Given the description of an element on the screen output the (x, y) to click on. 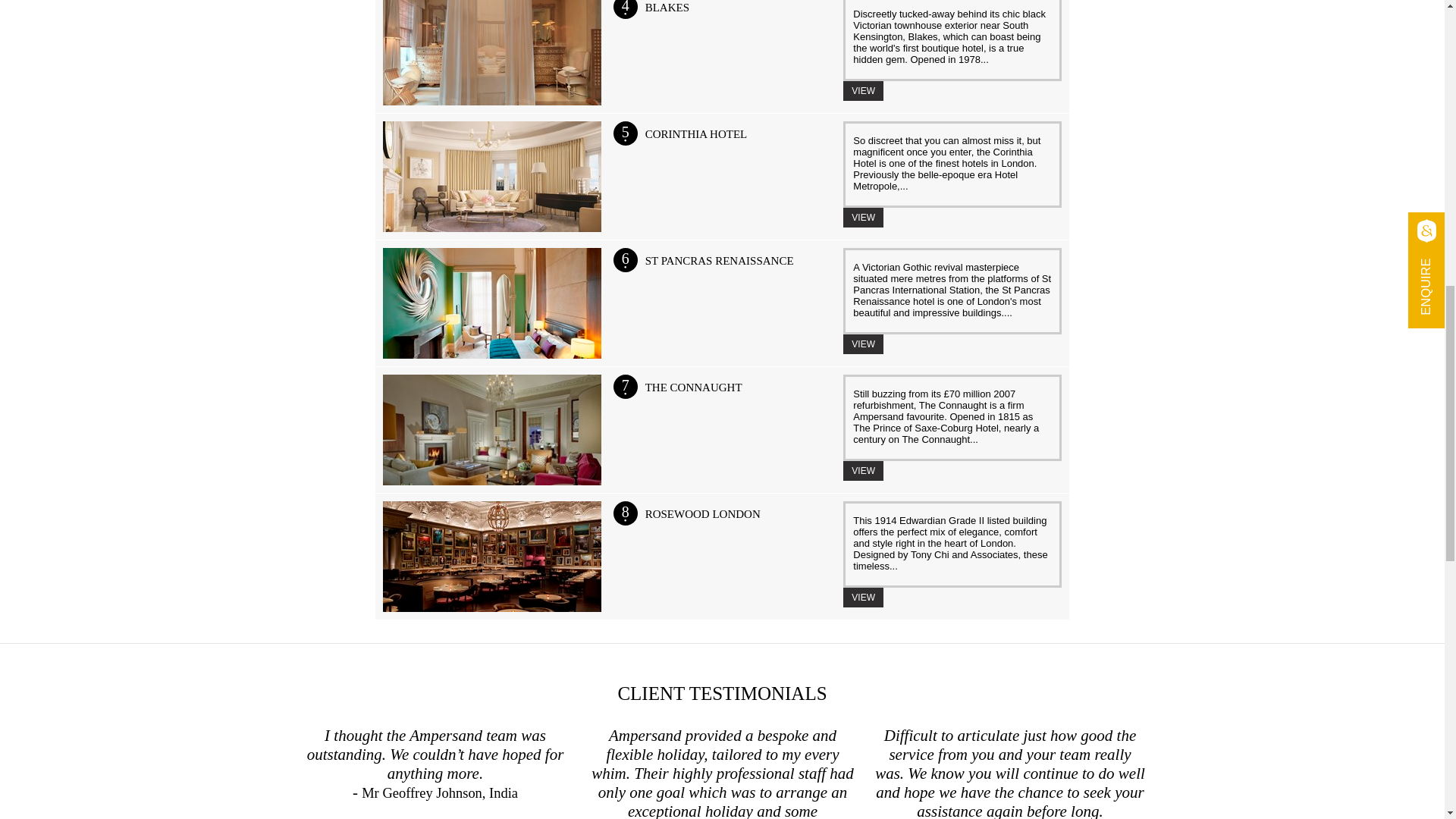
View here (863, 470)
View here (863, 343)
View here (863, 217)
View here (863, 597)
View here (863, 90)
